Given the description of an element on the screen output the (x, y) to click on. 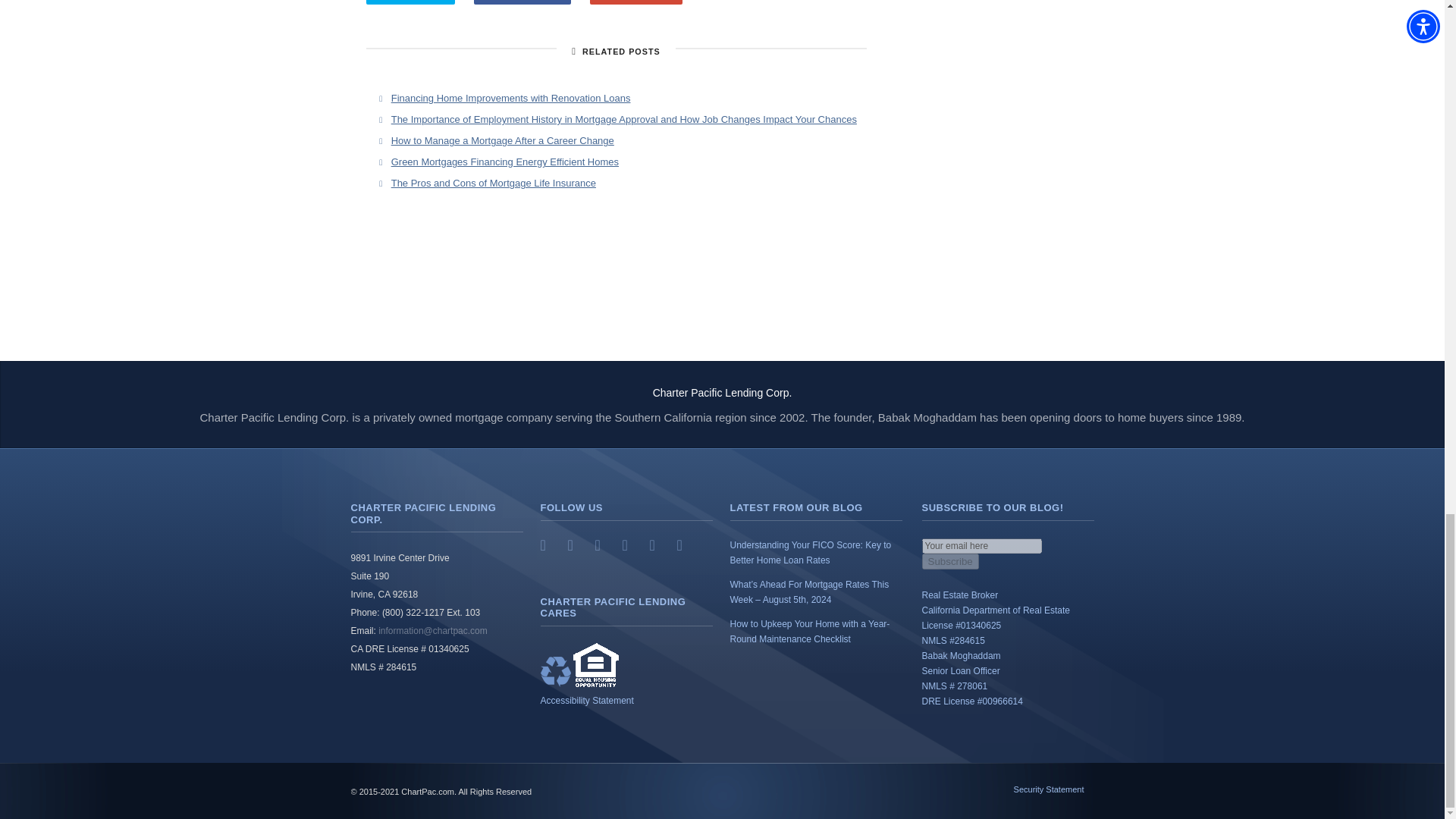
How to Manage a Mortgage After a Career Change (502, 140)
Your email here (981, 545)
Financing Home Improvements with Renovation Loans (510, 98)
Your email here (981, 545)
